Given the description of an element on the screen output the (x, y) to click on. 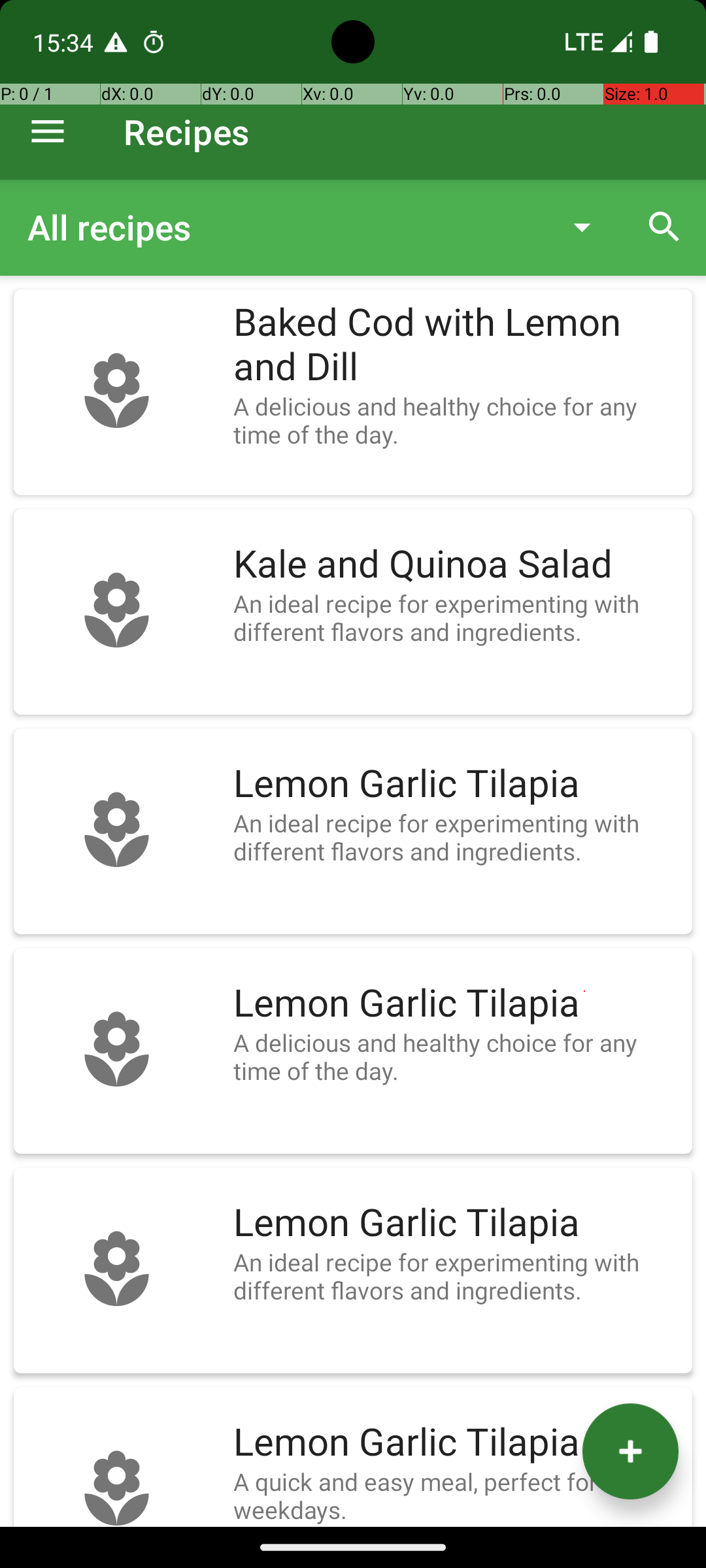
Kale and Quinoa Salad Element type: android.widget.TextView (455, 564)
Lemon Garlic Tilapia Element type: android.widget.TextView (455, 783)
